Given the description of an element on the screen output the (x, y) to click on. 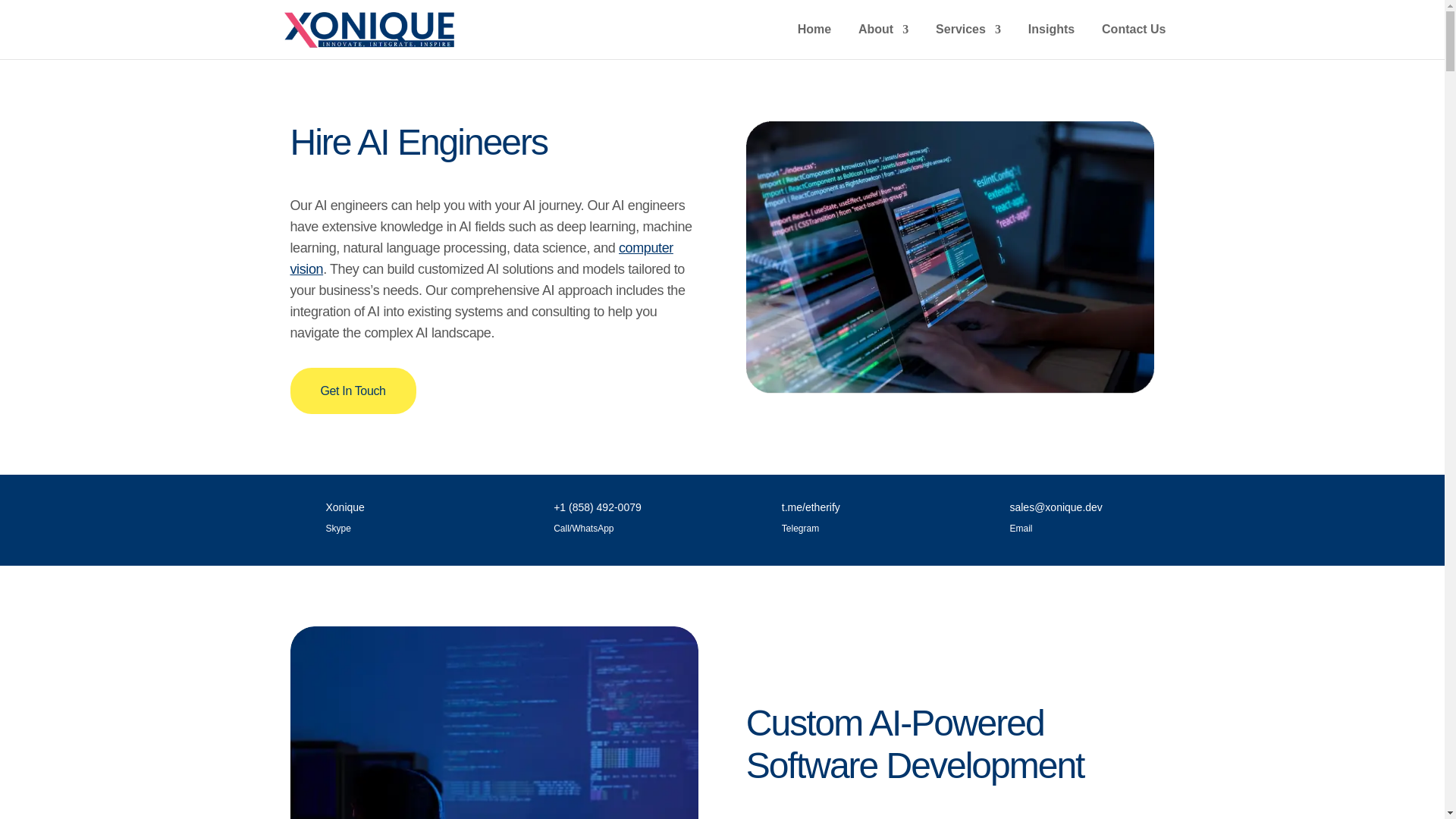
Home (814, 41)
custom-ai-powered-software-development-1 (493, 722)
Services (968, 41)
About (883, 41)
hire-ai-engineers-1 (949, 257)
